Given the description of an element on the screen output the (x, y) to click on. 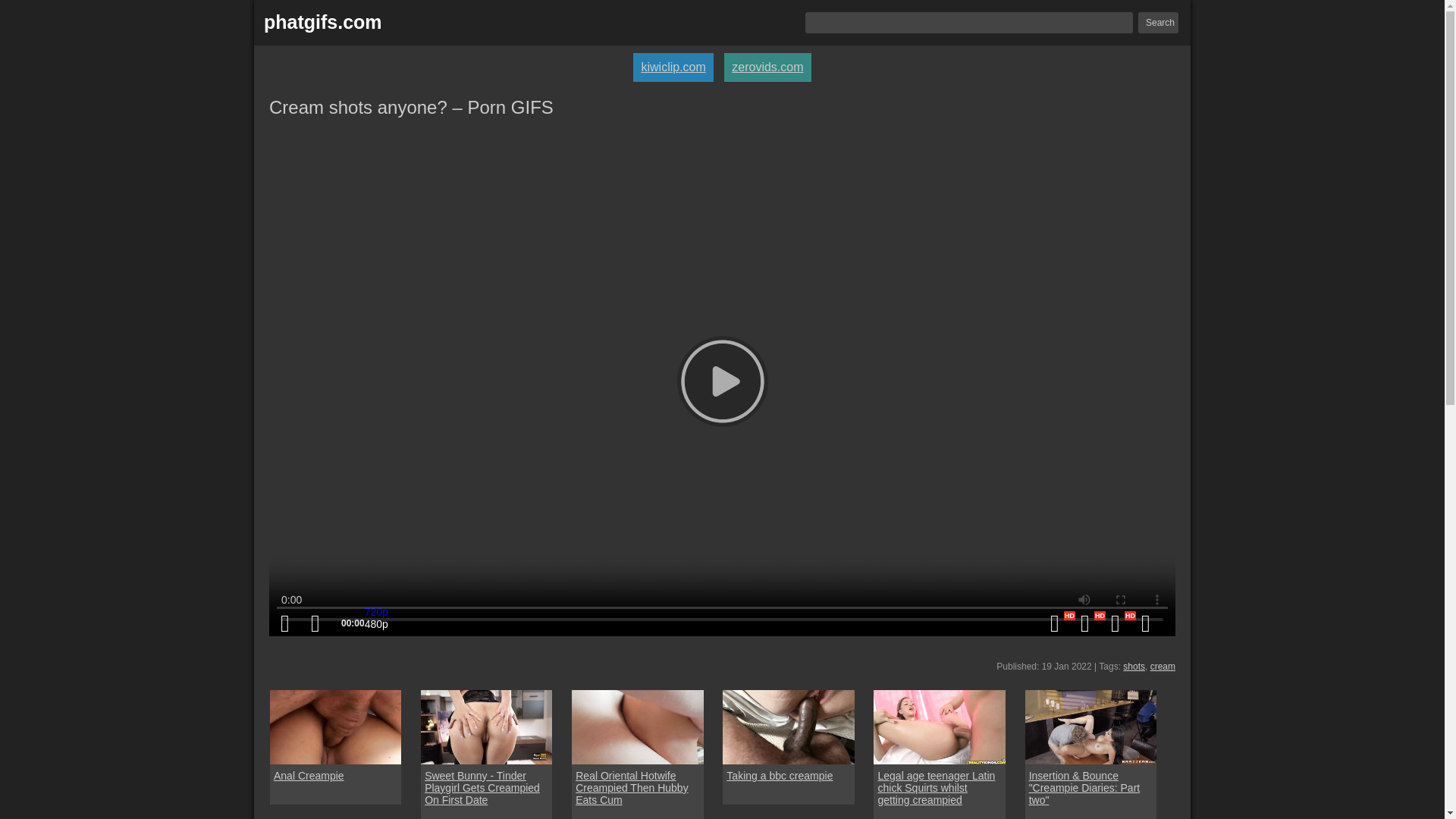
Real Oriental Hotwife Creampied Then Hubby Eats Cum (637, 726)
Taking a bbc creampie (779, 775)
Sweet Bunny - Tinder Playgirl Gets Creampied On First Date (486, 787)
Sweet Bunny - Tinder Playgirl Gets Creampied On First Date (485, 726)
Anal Creampie (308, 775)
shots (1133, 665)
Real Oriental Hotwife Creampied Then Hubby Eats Cum (636, 787)
Anal Creampie (335, 726)
Anal Creampie (308, 775)
